Given the description of an element on the screen output the (x, y) to click on. 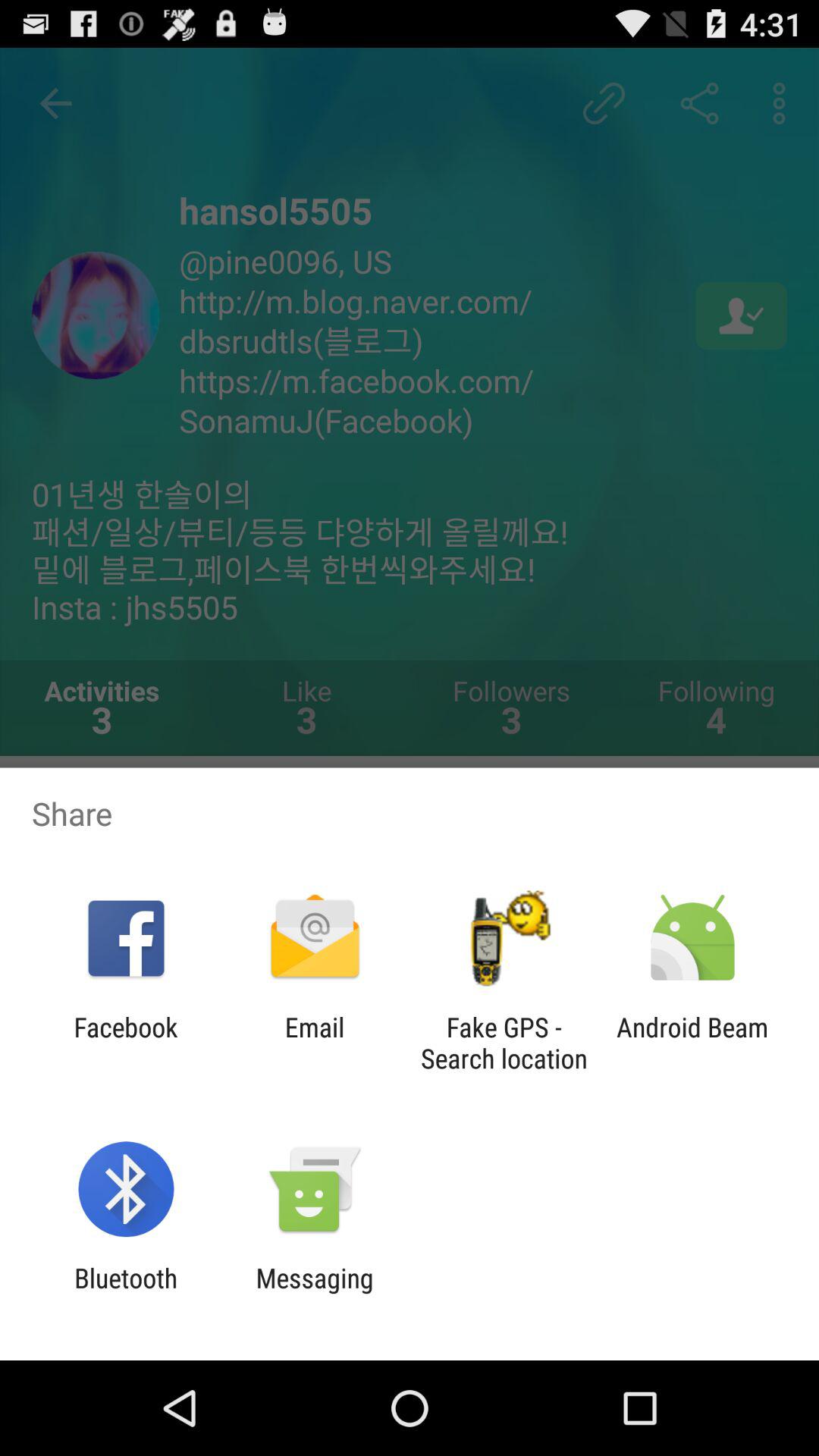
click facebook (125, 1042)
